Given the description of an element on the screen output the (x, y) to click on. 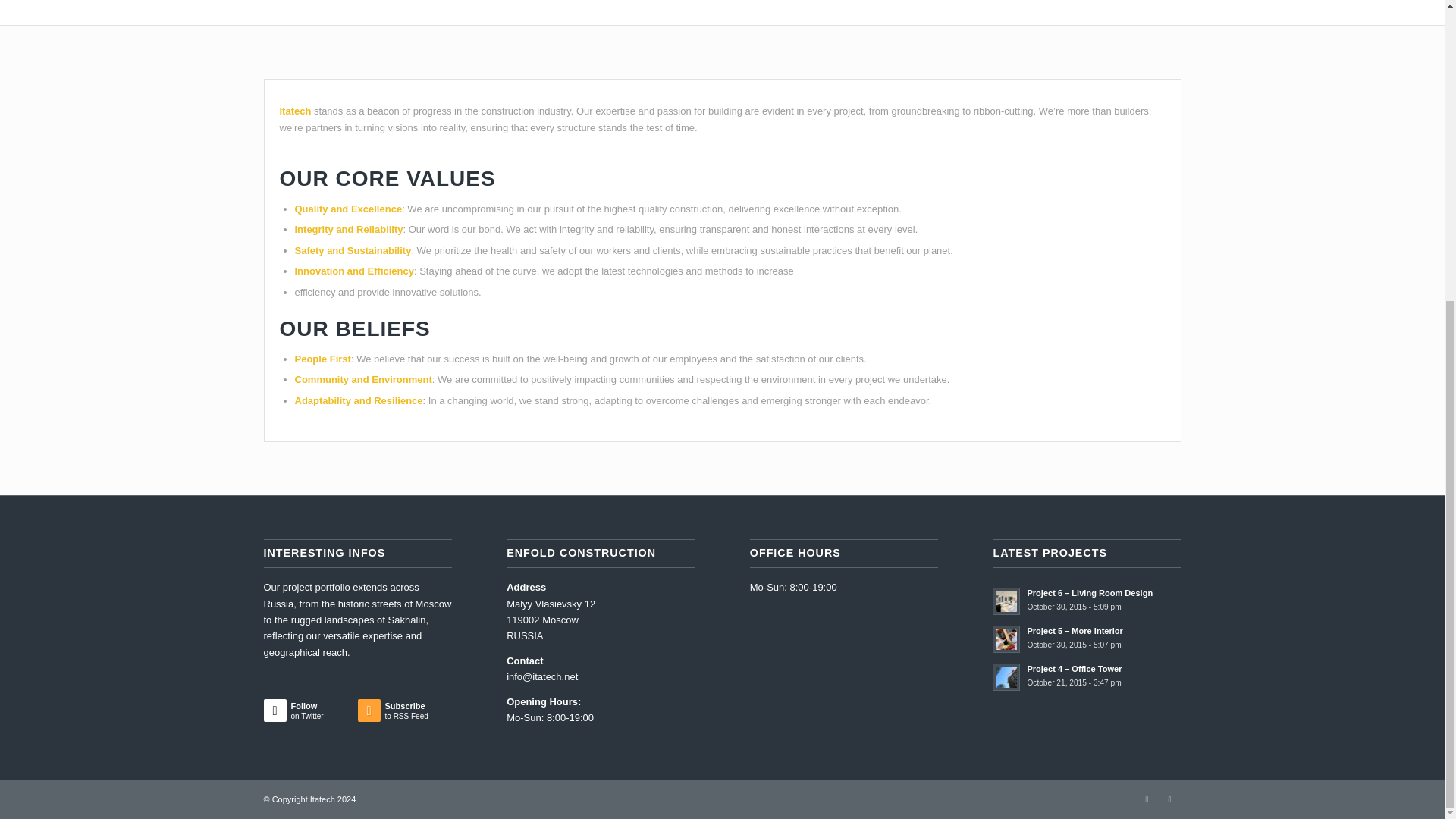
Dribbble (404, 714)
Twitter (1169, 798)
